Given the description of an element on the screen output the (x, y) to click on. 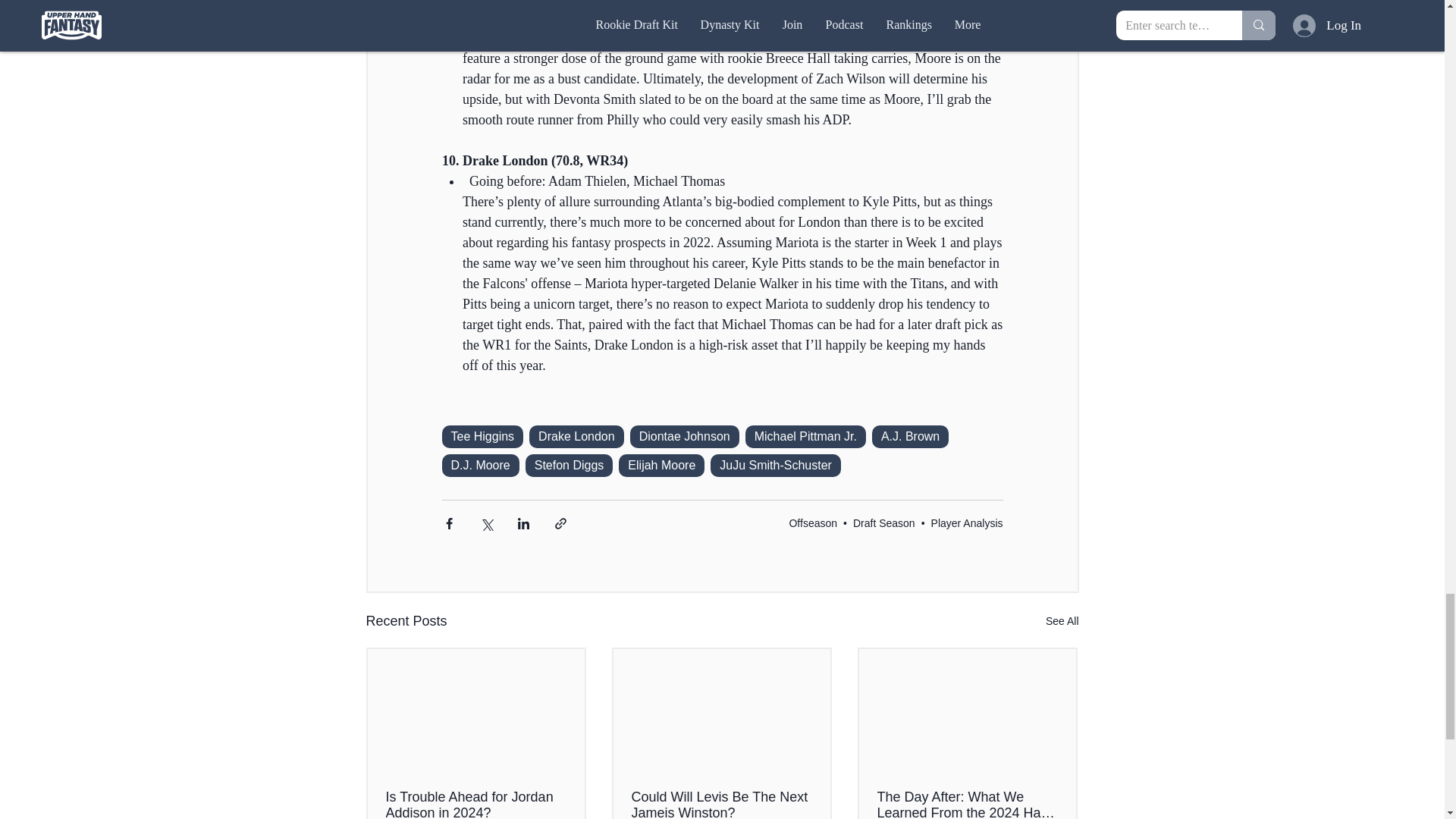
Diontae Johnson (684, 436)
Drake London (576, 436)
Elijah Moore (661, 465)
Michael Pittman Jr. (805, 436)
Tee Higgins (481, 436)
Stefon Diggs (568, 465)
A.J. Brown (910, 436)
D.J. Moore (479, 465)
